Given the description of an element on the screen output the (x, y) to click on. 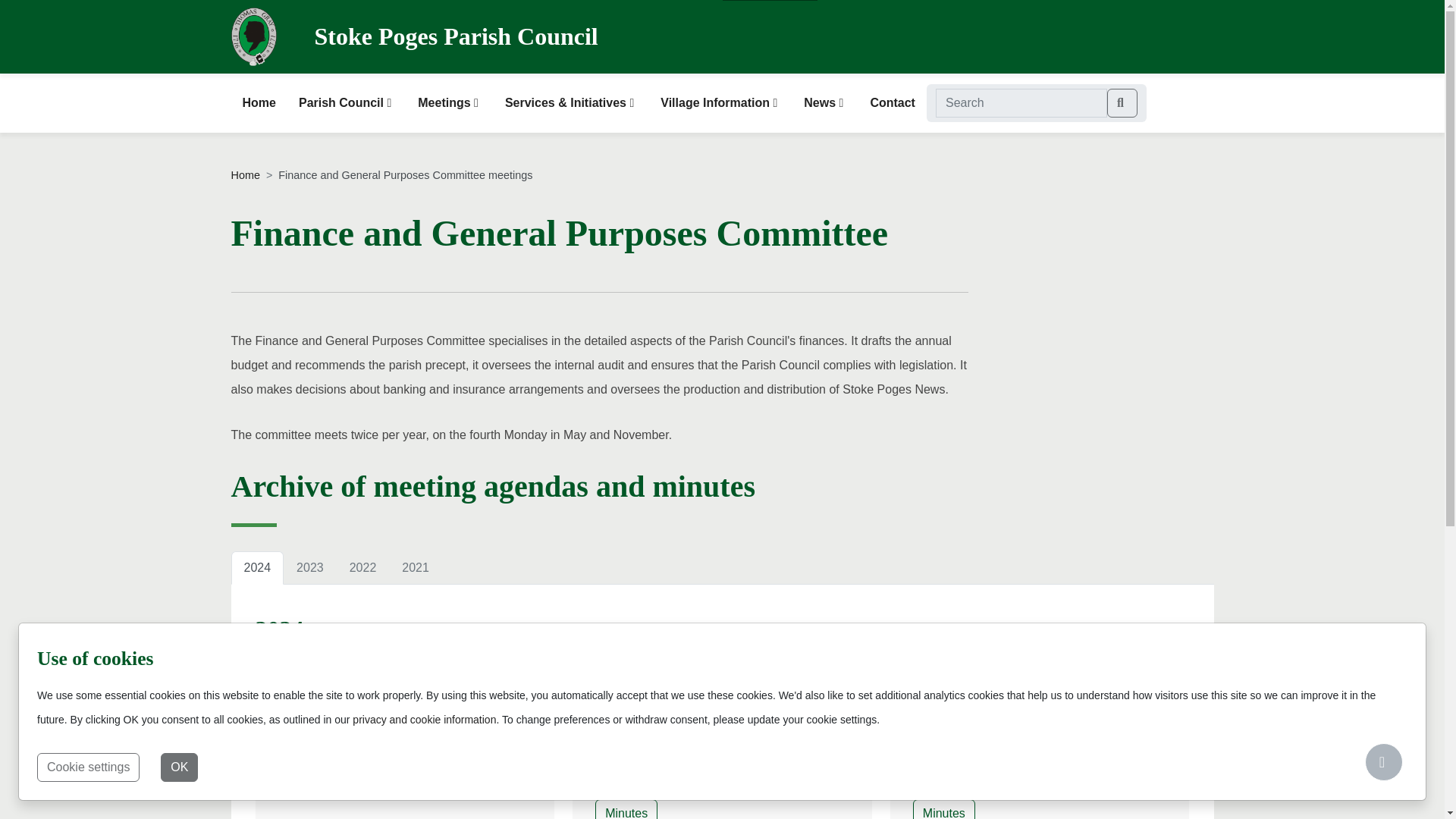
Return to the homepage (253, 33)
Contact (892, 102)
News (825, 102)
Home (258, 102)
Home (244, 174)
Finance Committee meeting minutes Monday 8th January 2024 (943, 809)
Village Information (720, 102)
2023 (309, 567)
Finance Committee meeting minutes Monday 24th June 2024 (626, 809)
Parish Council (346, 102)
